Given the description of an element on the screen output the (x, y) to click on. 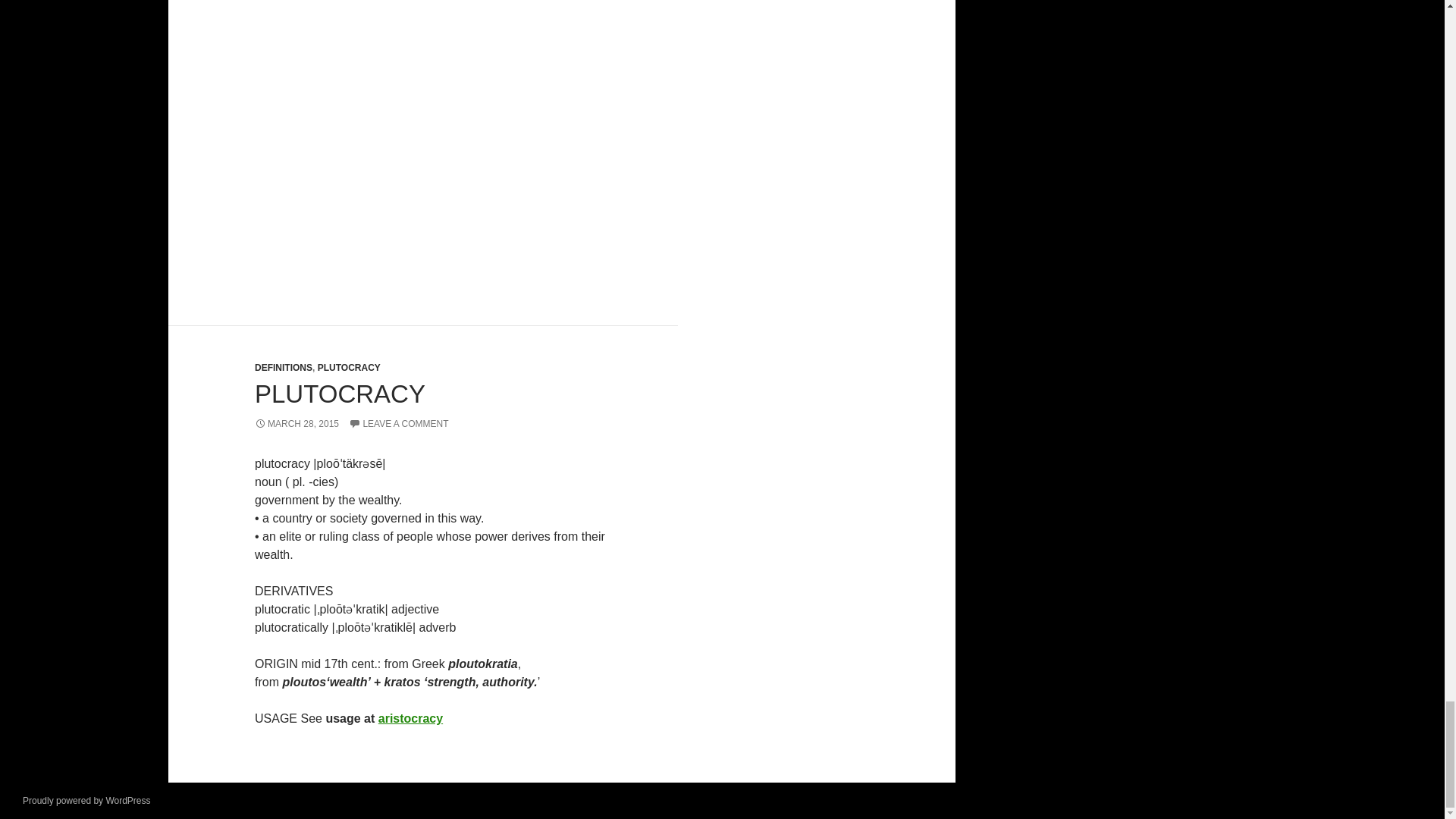
Definition: Aristocracy (410, 717)
